Given the description of an element on the screen output the (x, y) to click on. 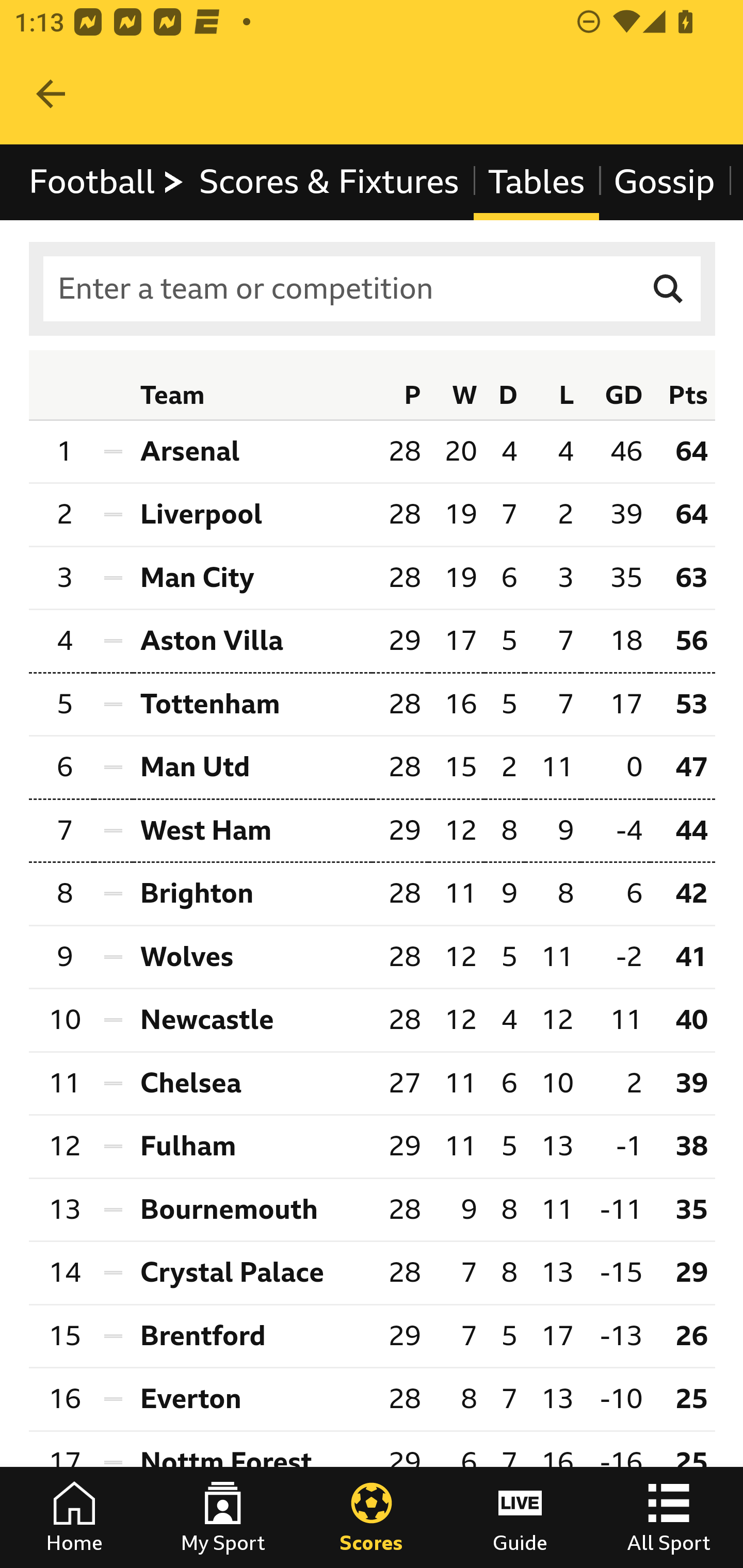
Navigate up (50, 93)
Football  (106, 181)
Scores & Fixtures (329, 181)
Tables (536, 181)
Gossip (664, 181)
Search (669, 289)
Arsenal (252, 450)
Liverpool (252, 514)
Man City Manchester City (252, 577)
Aston Villa (252, 640)
Tottenham Tottenham Hotspur (252, 704)
Man Utd Manchester United (252, 768)
West Ham West Ham United (252, 830)
Brighton Brighton & Hove Albion (252, 894)
Wolves Wolverhampton Wanderers (252, 957)
Newcastle Newcastle United (252, 1020)
Chelsea (252, 1082)
Fulham (252, 1145)
Bournemouth AFC Bournemouth (252, 1209)
Crystal Palace (252, 1271)
Brentford (252, 1335)
Everton (252, 1399)
Home (74, 1517)
My Sport (222, 1517)
Guide (519, 1517)
All Sport (668, 1517)
